Given the description of an element on the screen output the (x, y) to click on. 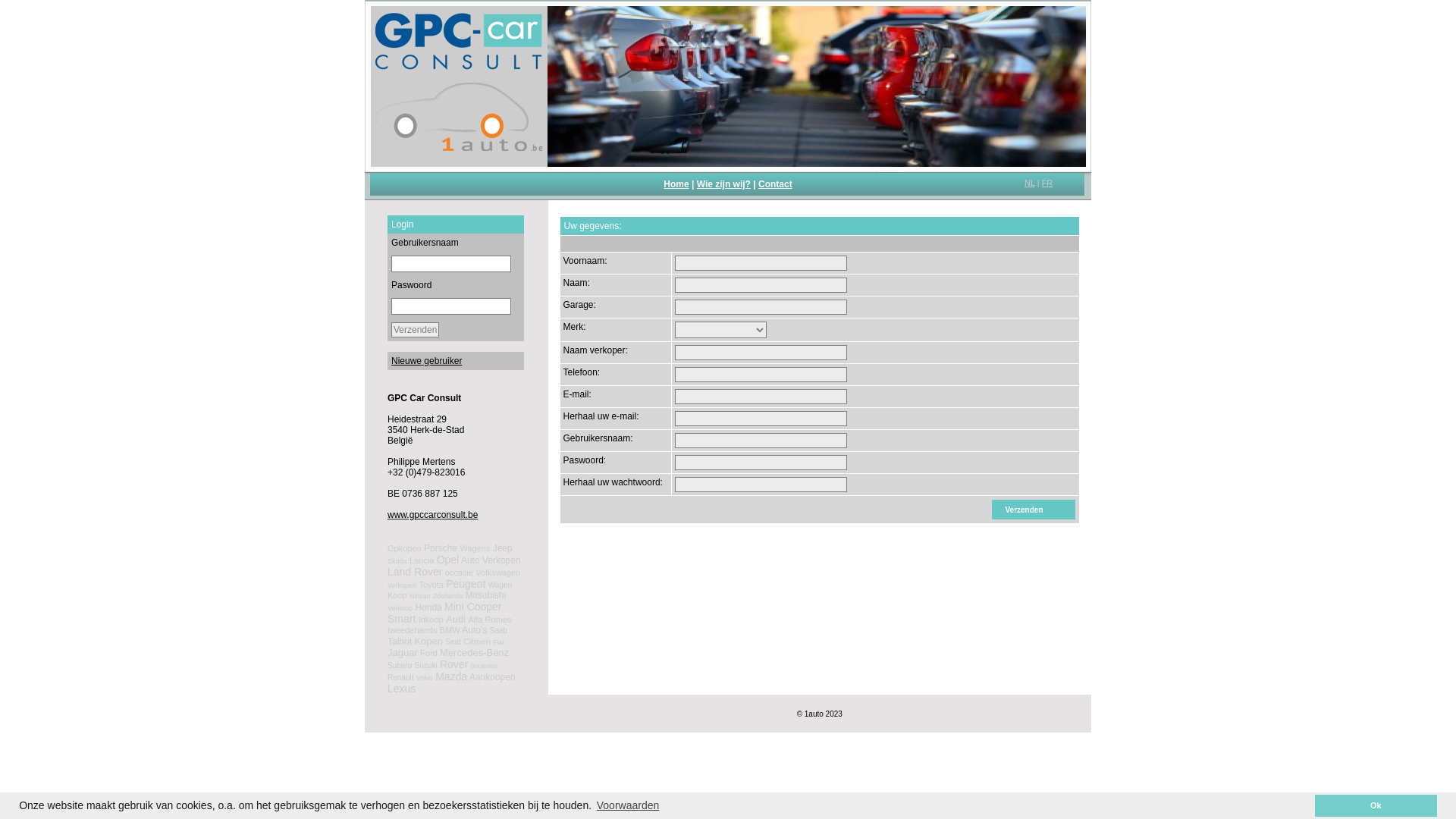
Home Element type: text (675, 183)
Nieuwe gebruiker Element type: text (426, 360)
Wie zijn wij? Element type: text (723, 183)
Verzenden Element type: text (1033, 509)
Contact Element type: text (775, 183)
Voorwaarden Element type: text (627, 805)
www.gpccarconsult.be Element type: text (432, 514)
FR Element type: text (1047, 182)
Verzenden Element type: text (415, 329)
NL Element type: text (1029, 182)
Ok Element type: text (1375, 805)
